Given the description of an element on the screen output the (x, y) to click on. 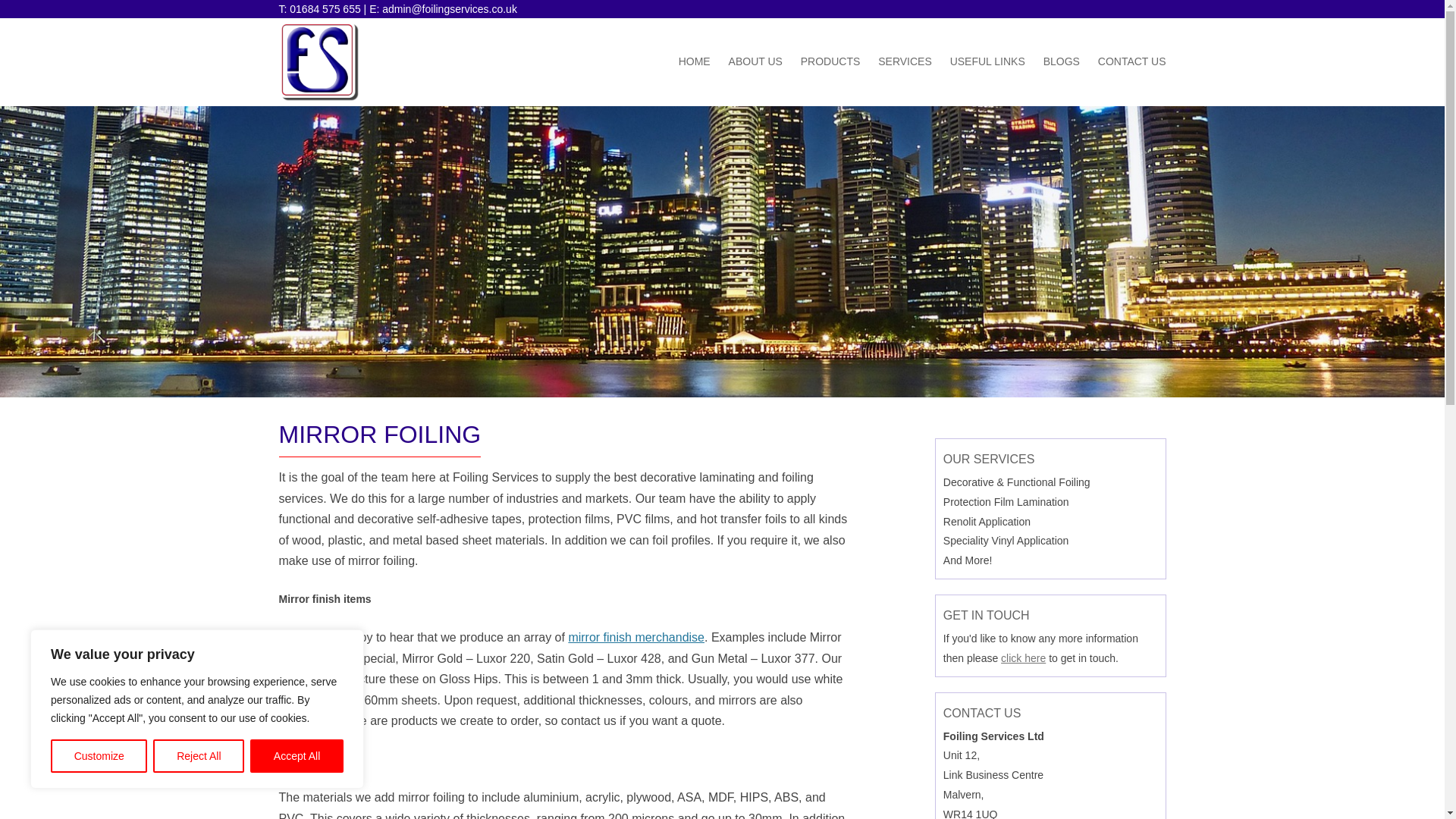
Reject All (198, 756)
USEFUL LINKS (987, 61)
Customize (98, 756)
Accept All (296, 756)
BRUSHED PRODUCTS (876, 97)
BLOGS (1061, 61)
FOILING SERVICES (953, 97)
click here (1023, 657)
PRODUCTS (830, 61)
CONTACT US (1131, 61)
01684 575 655 (324, 9)
mirror finish merchandise (635, 636)
SERVICES (904, 61)
